Given the description of an element on the screen output the (x, y) to click on. 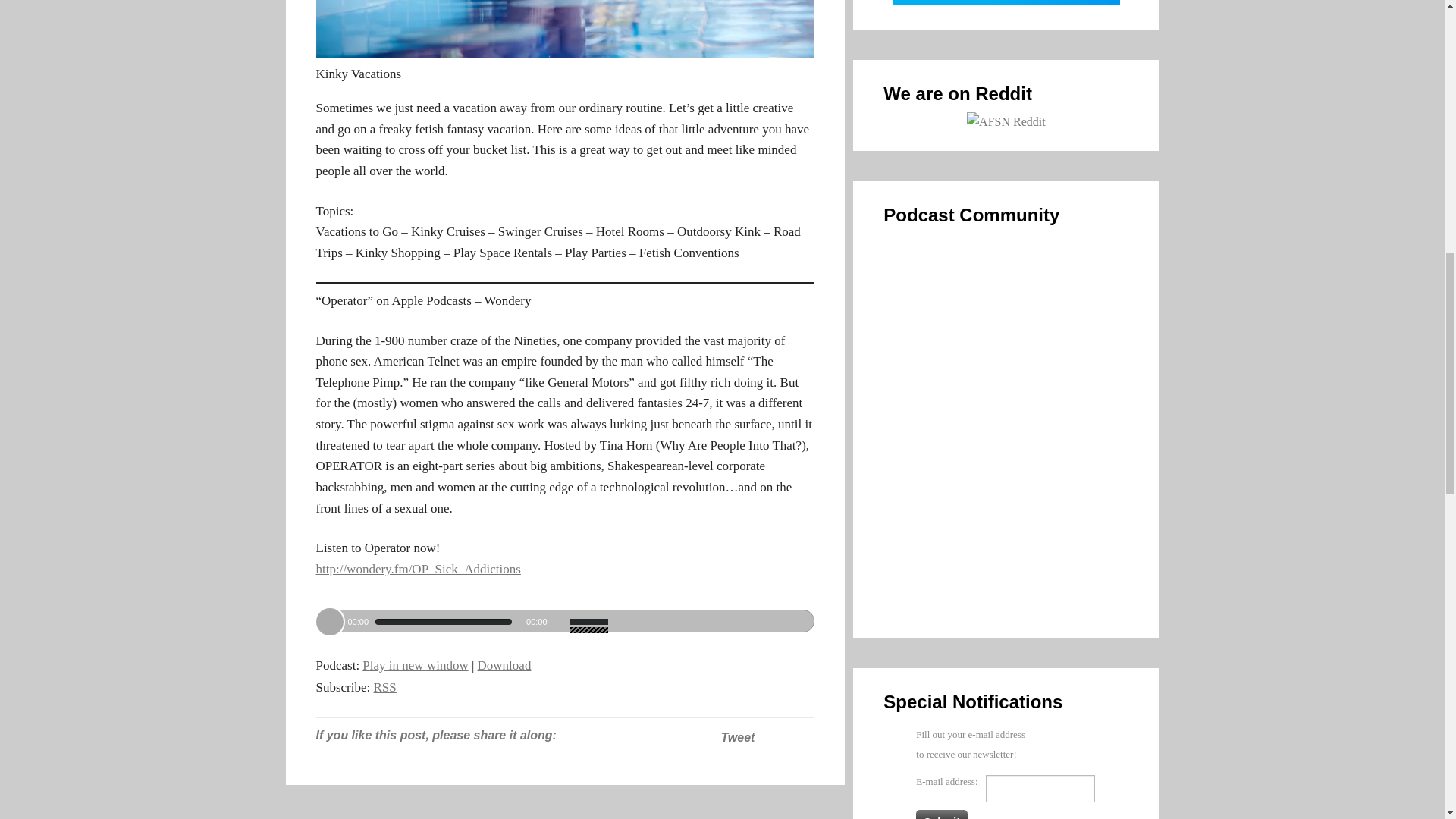
Play (328, 621)
Subscribe via RSS (385, 687)
Play in new window (414, 665)
Mute (560, 621)
Submit (940, 814)
Download (504, 665)
Download (504, 665)
Submit (940, 814)
Tweet (737, 737)
RSS (385, 687)
Play in new window (414, 665)
